Given the description of an element on the screen output the (x, y) to click on. 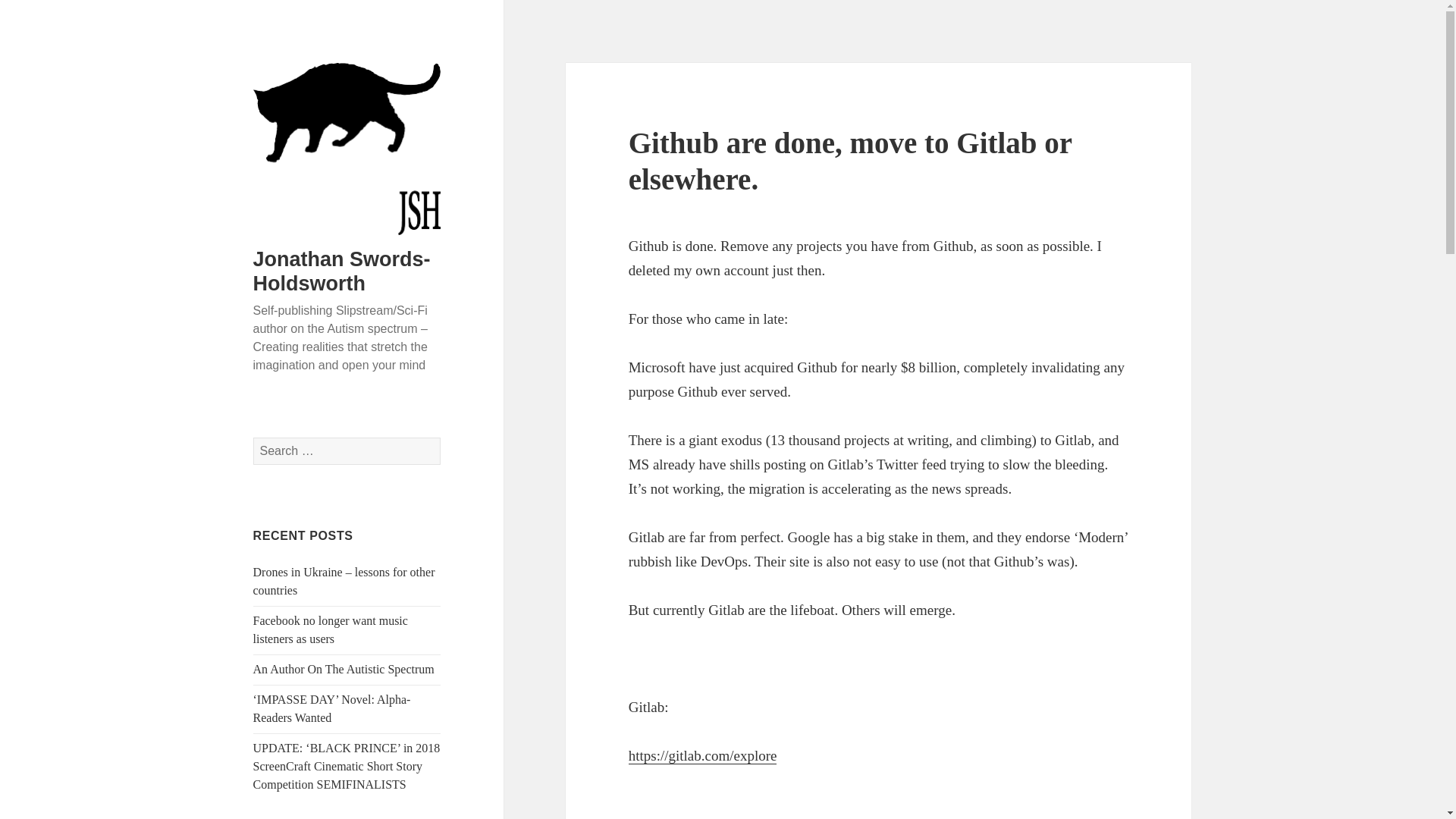
Facebook no longer want music listeners as users (330, 629)
Jonathan Swords-Holdsworth (341, 271)
An Author On The Autistic Spectrum (343, 668)
